Given the description of an element on the screen output the (x, y) to click on. 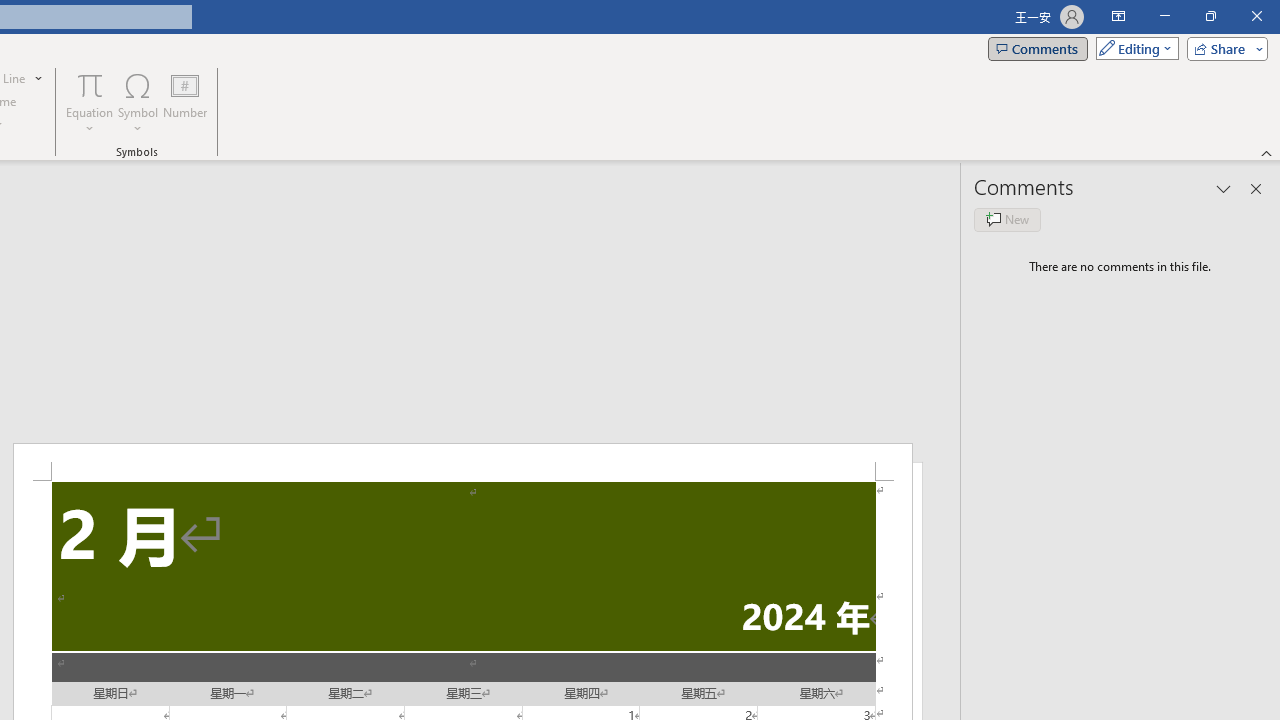
Header -Section 2- (462, 461)
Equation (90, 84)
New comment (1007, 219)
Equation (90, 102)
Number... (185, 102)
